Given the description of an element on the screen output the (x, y) to click on. 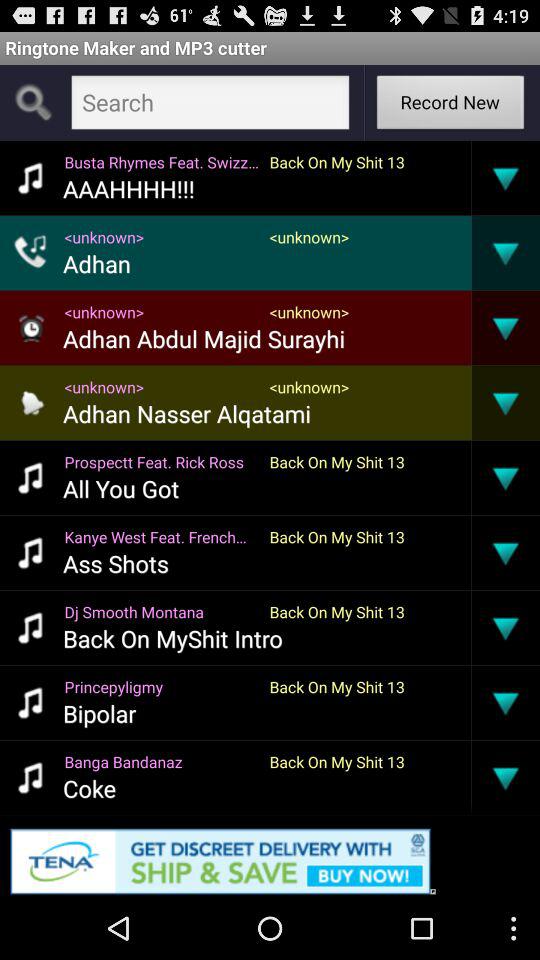
click the icon to the right of back on my (471, 777)
